Given the description of an element on the screen output the (x, y) to click on. 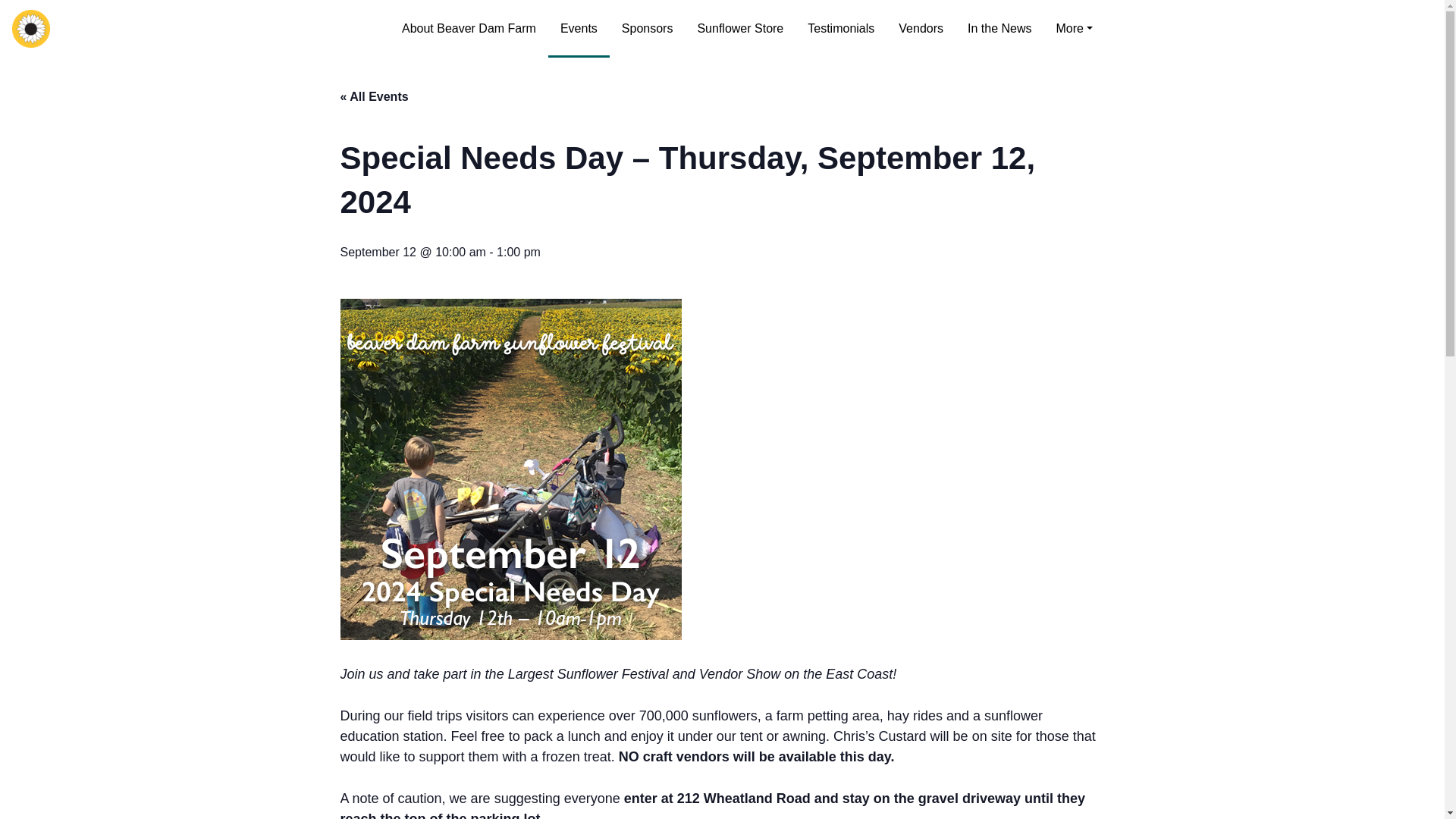
Sponsors (647, 28)
In the News (999, 28)
Sunflower Store (739, 28)
Vendors (920, 28)
About Beaver Dam Farm (469, 28)
Events (579, 28)
Testimonials (840, 28)
Sunflower Store (739, 28)
Sponsors (647, 28)
Events (579, 28)
